Given the description of an element on the screen output the (x, y) to click on. 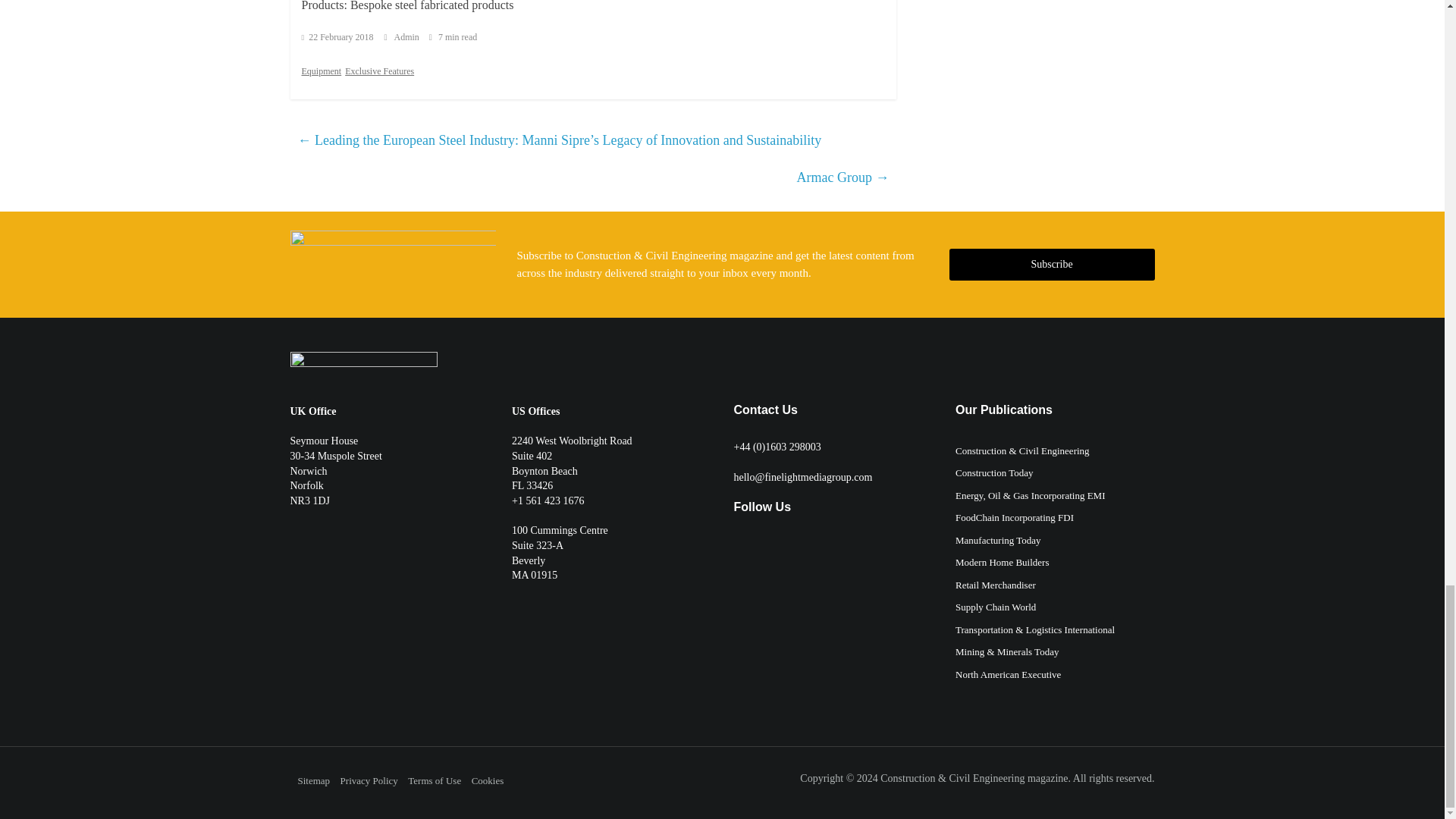
22 February 2018 (337, 36)
1:34 pm (337, 36)
Admin (408, 36)
Admin (408, 36)
Exclusive Features (379, 70)
Equipment (321, 70)
